Given the description of an element on the screen output the (x, y) to click on. 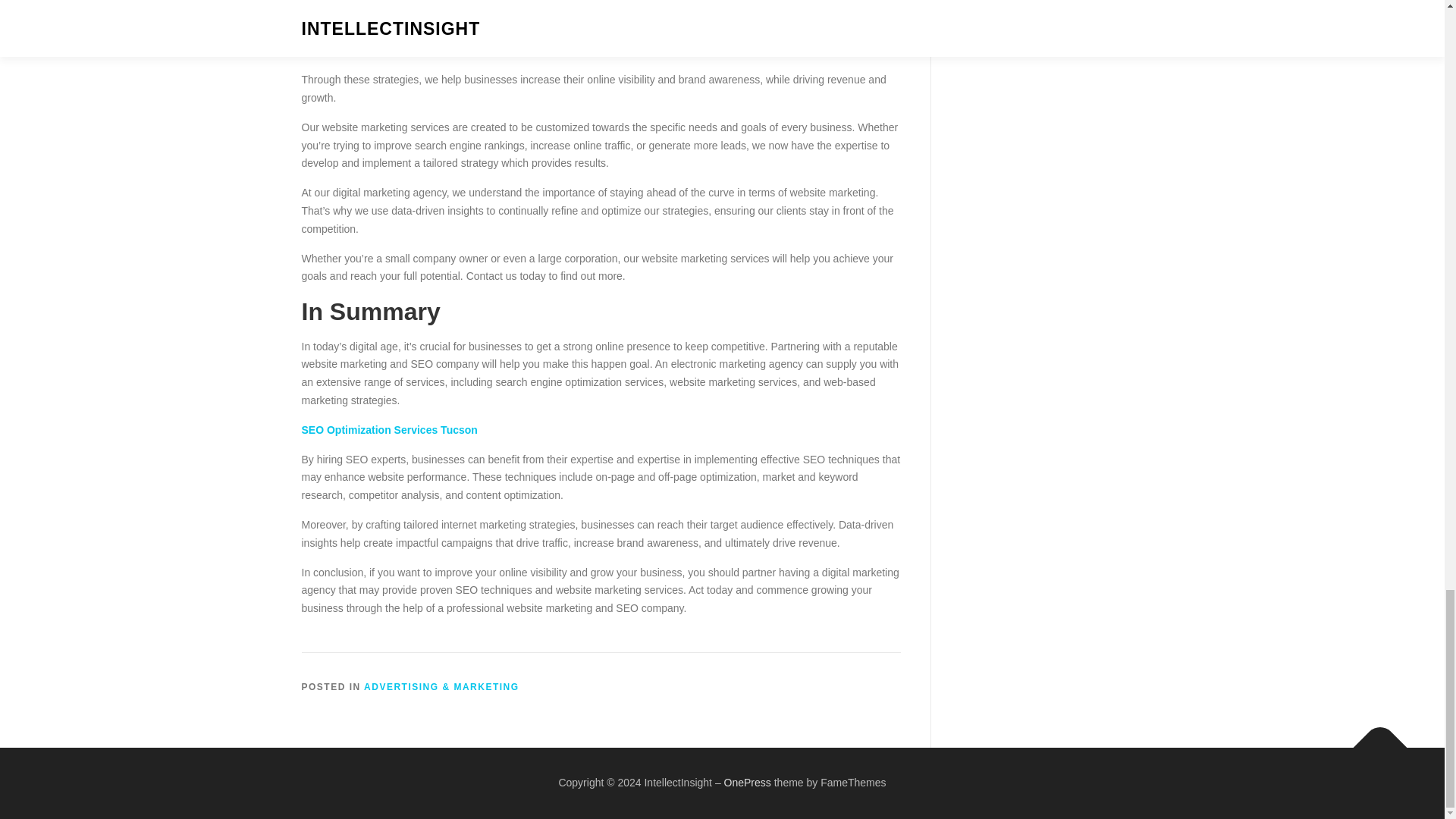
SEO Optimization Services Tucson (389, 429)
Back To Top (1372, 740)
